Given the description of an element on the screen output the (x, y) to click on. 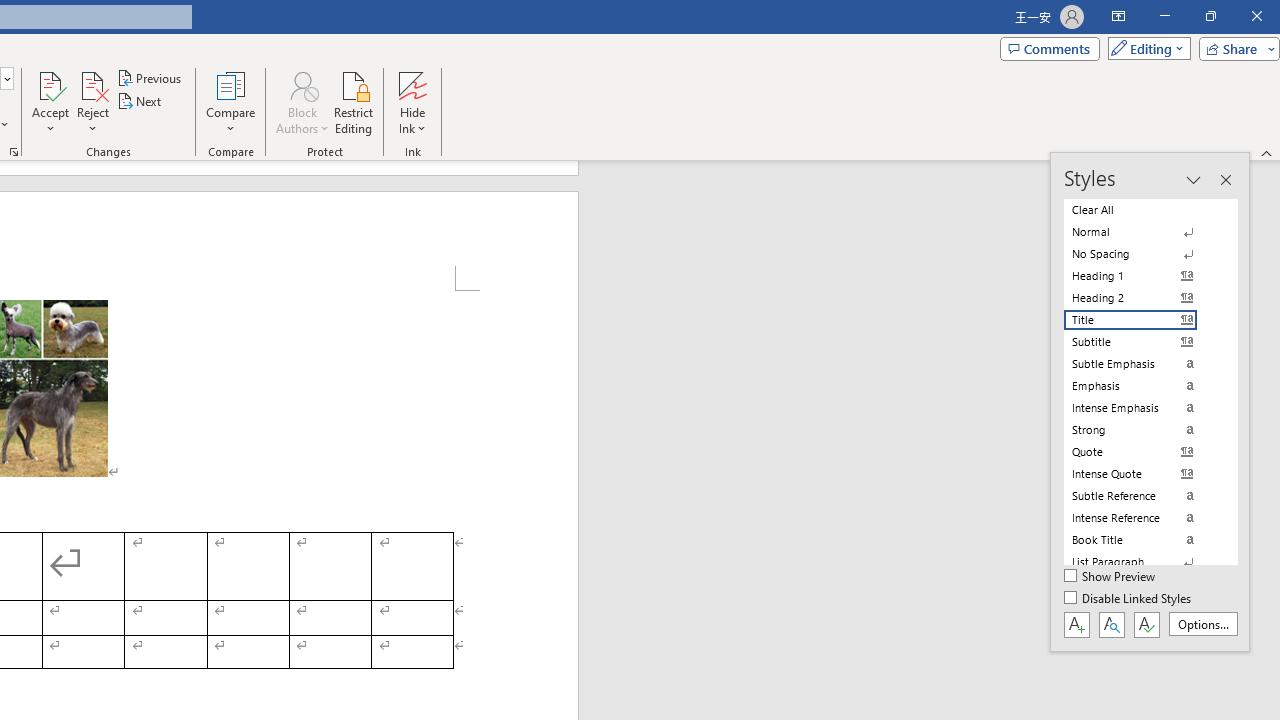
Emphasis (1142, 385)
Hide Ink (412, 102)
Change Tracking Options... (13, 151)
Intense Quote (1142, 473)
No Spacing (1142, 253)
Hide Ink (412, 84)
Subtle Emphasis (1142, 363)
Class: NetUIButton (1146, 624)
Disable Linked Styles (1129, 599)
Book Title (1142, 539)
